Given the description of an element on the screen output the (x, y) to click on. 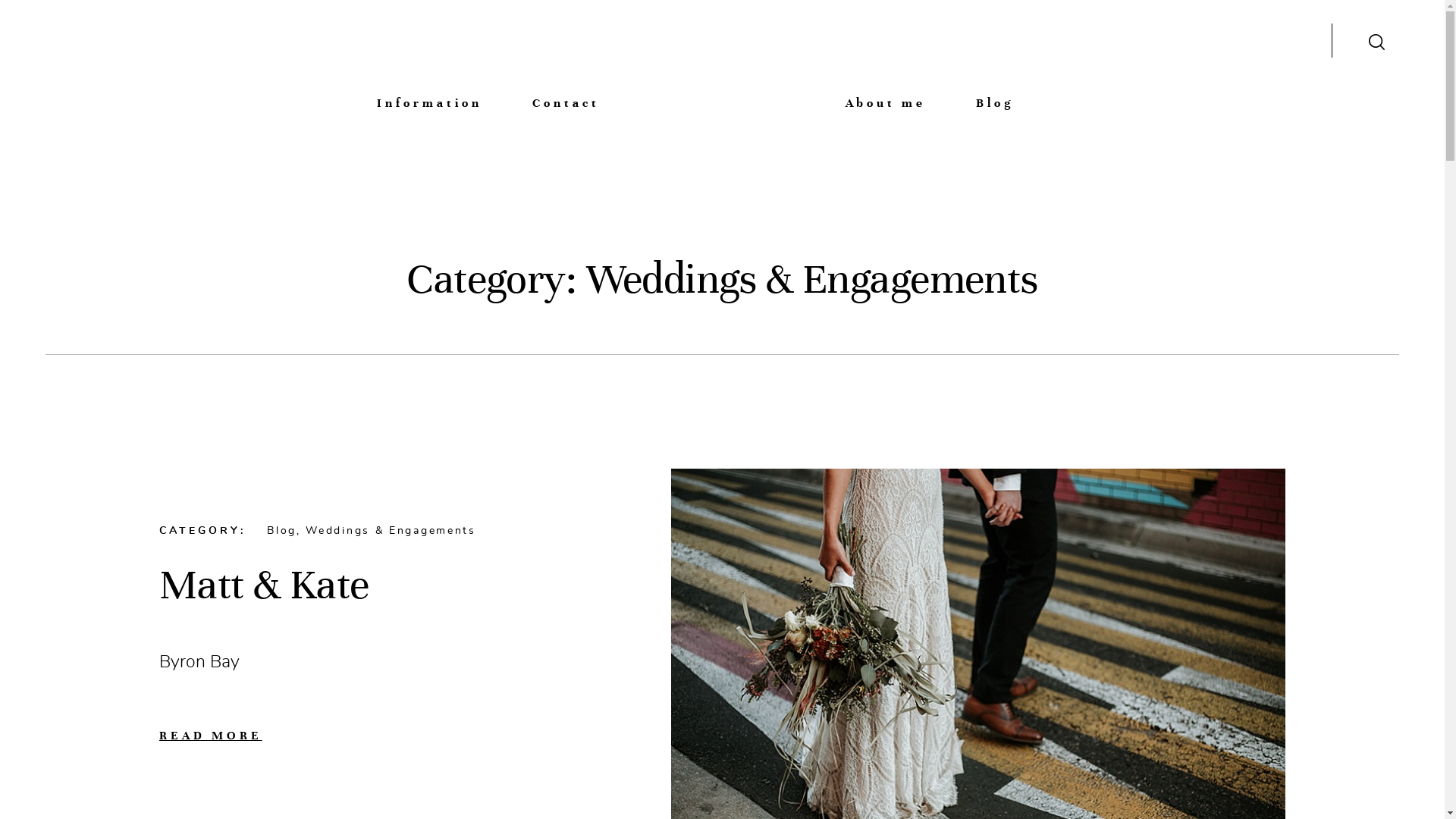
About me Element type: text (884, 101)
Information Element type: text (428, 101)
Blog Element type: text (994, 101)
Contact Element type: text (565, 101)
Matt & Kate
Byron Bay
READ MORE Element type: text (389, 650)
Weddings & Engagements Element type: text (390, 530)
Blog Element type: text (281, 530)
